Given the description of an element on the screen output the (x, y) to click on. 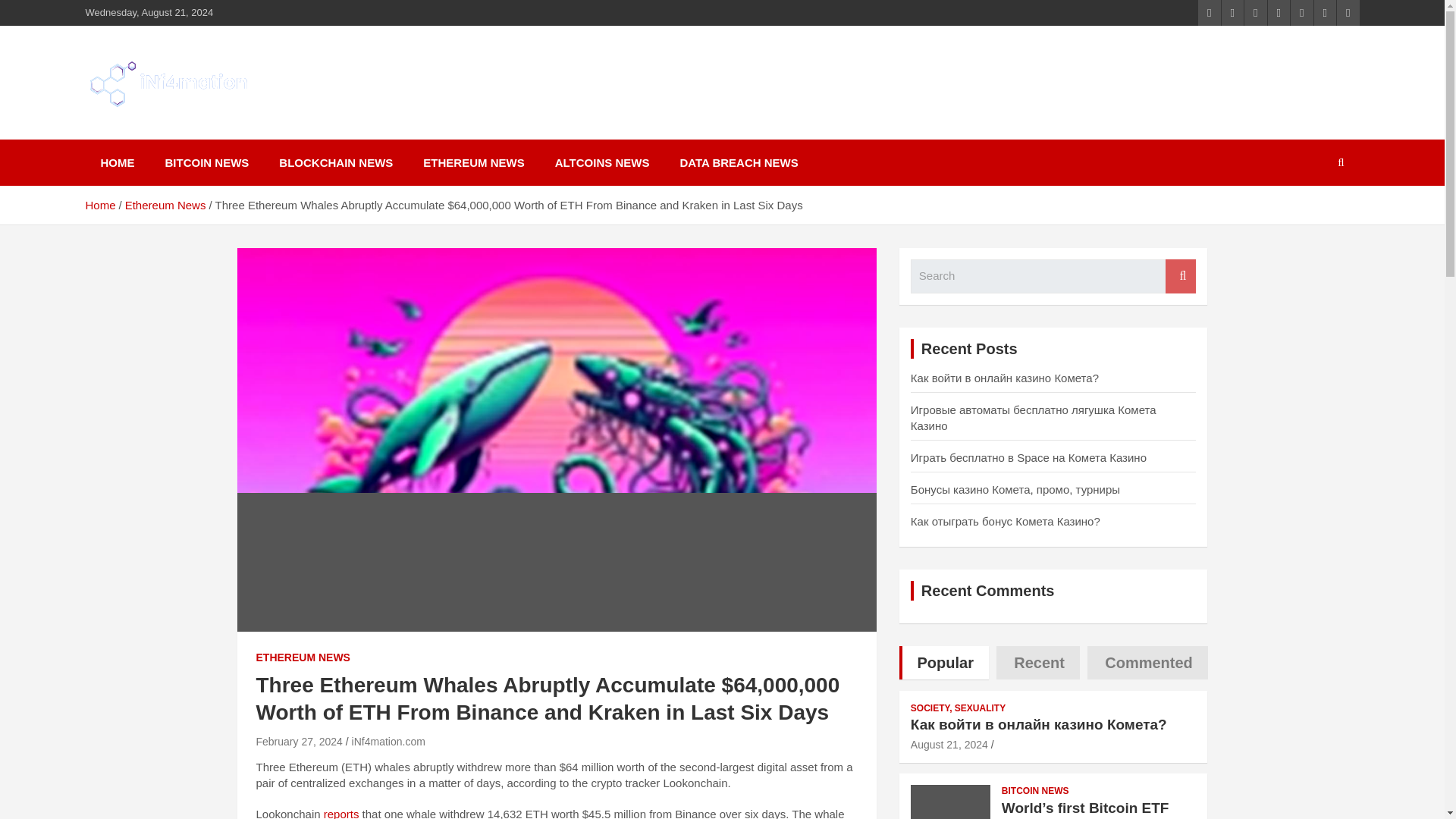
February 27, 2024 (299, 741)
Popular (943, 662)
Recent (1037, 662)
DATA BREACH NEWS (737, 162)
ALTCOINS NEWS (602, 162)
iNf4mation.com (388, 741)
BLOCKCHAIN NEWS (335, 162)
reports (341, 813)
Home (99, 205)
Search (1180, 276)
